Given the description of an element on the screen output the (x, y) to click on. 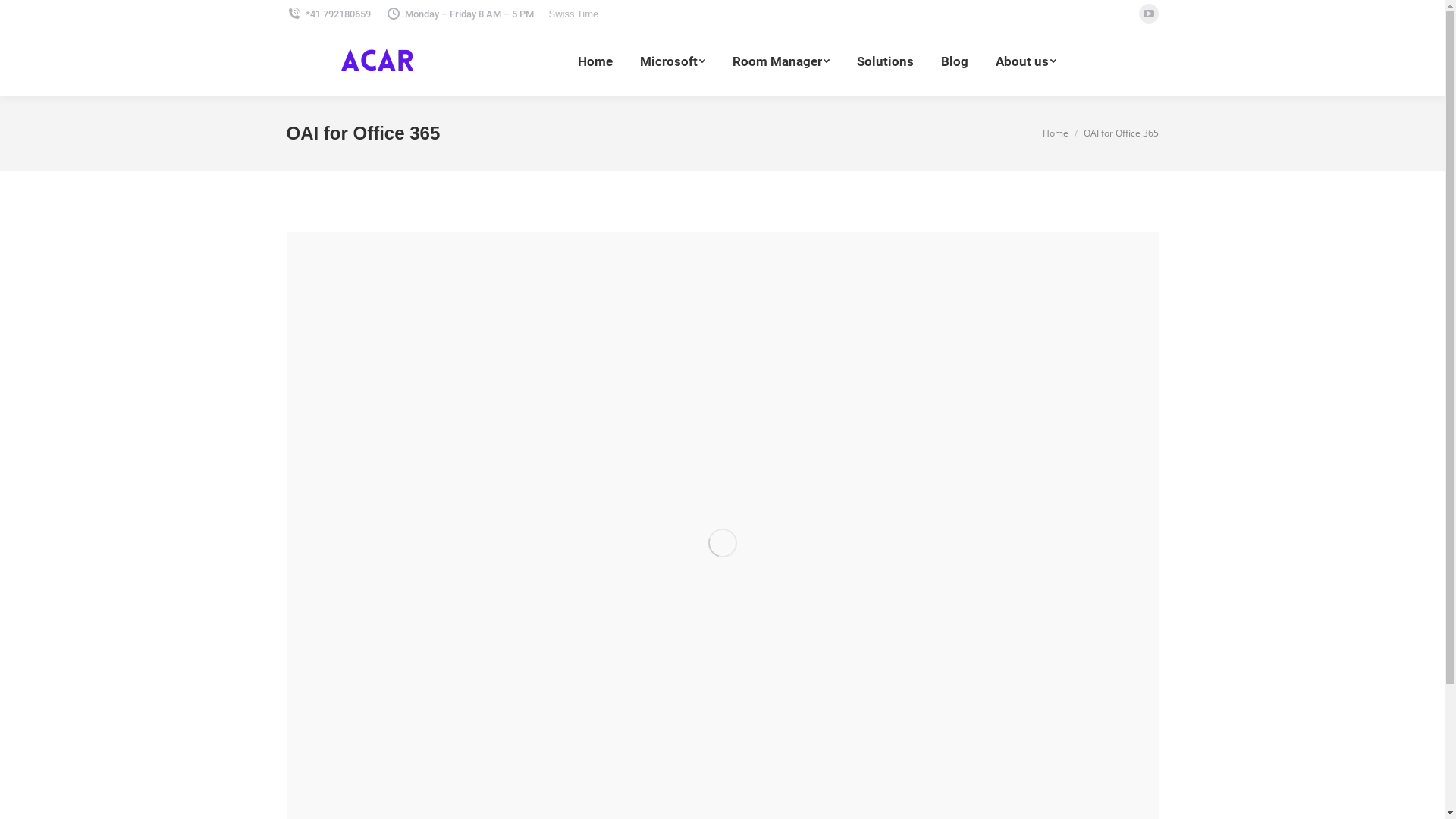
Room Manager Element type: text (780, 60)
Solutions Element type: text (884, 60)
Home Element type: text (594, 60)
Home Element type: text (1054, 132)
Microsoft Element type: text (672, 60)
YouTube page opens in new window Element type: text (1148, 13)
Blog Element type: text (954, 60)
About us Element type: text (1025, 60)
